Given the description of an element on the screen output the (x, y) to click on. 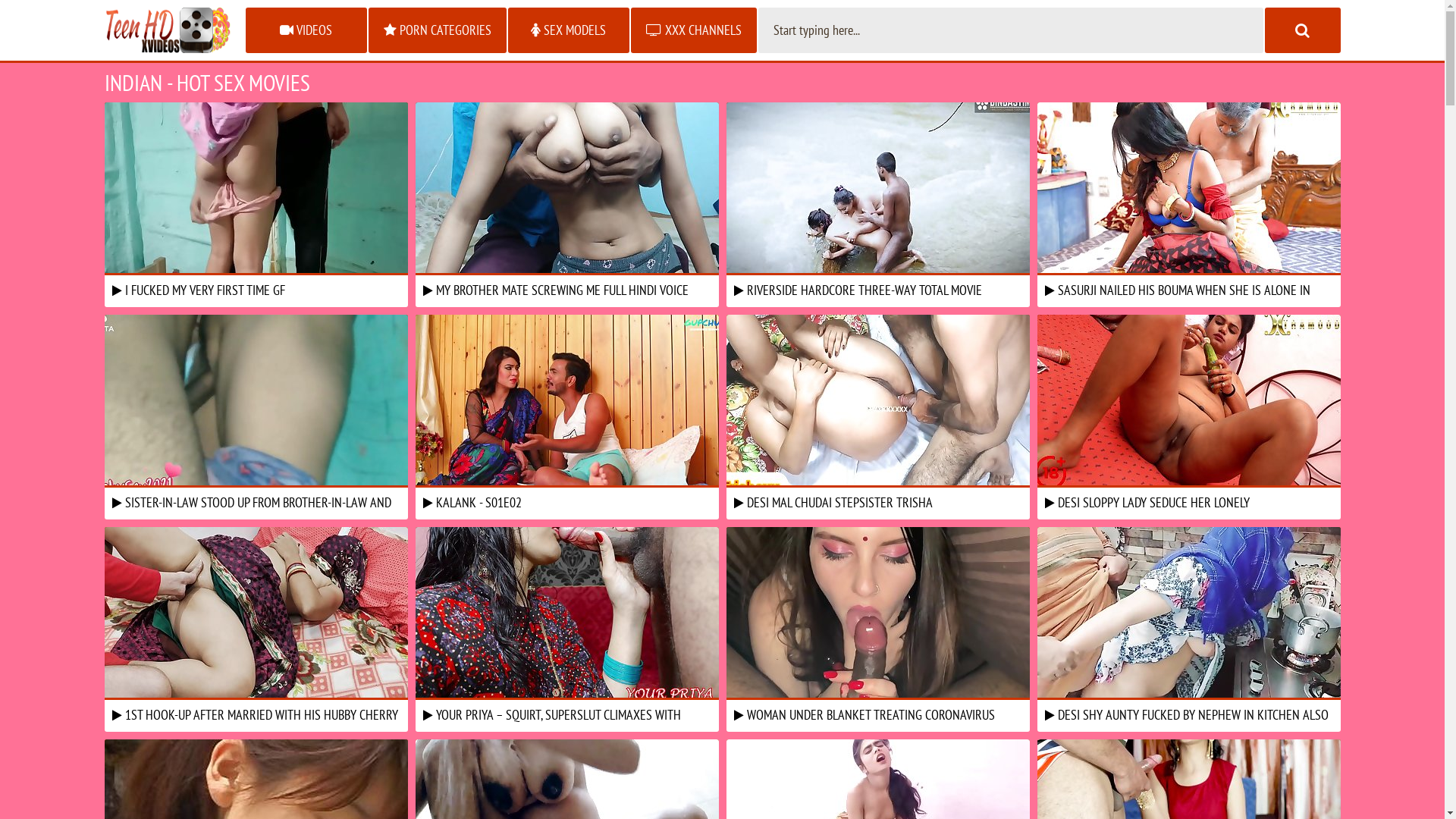
RIVERSIDE HARDCORE THREE-WAY TOTAL MOVIE Element type: text (877, 200)
XXX CHANNELS Element type: text (693, 30)
WOMAN UNDER BLANKET TREATING CORONAVIRUS COVID-19 Element type: text (877, 625)
VIDEOS Element type: text (306, 30)
DESI MAL CHUDAI STEPSISTER TRISHA Element type: text (877, 412)
Teen HD Xvideos Element type: hover (167, 30)
SASURJI NAILED HIS BOUMA WHEN SHE IS ALONE IN HOME Element type: text (1188, 200)
Search Element type: text (1302, 30)
Search Element type: hover (1302, 30)
1ST HOOK-UP AFTER MARRIED WITH HIS HUBBY CHERRY GIRL Element type: text (255, 625)
I FUCKED MY VERY FIRST TIME GF Element type: text (255, 200)
DESI SLOPPY LADY SEDUCE HER LONELY Element type: text (1188, 412)
PORN CATEGORIES Element type: text (437, 30)
SEX MODELS Element type: text (568, 30)
KALANK - S01E02 Element type: text (566, 412)
MY BROTHER MATE SCREWING ME FULL HINDI VOICE Element type: text (566, 200)
